Given the description of an element on the screen output the (x, y) to click on. 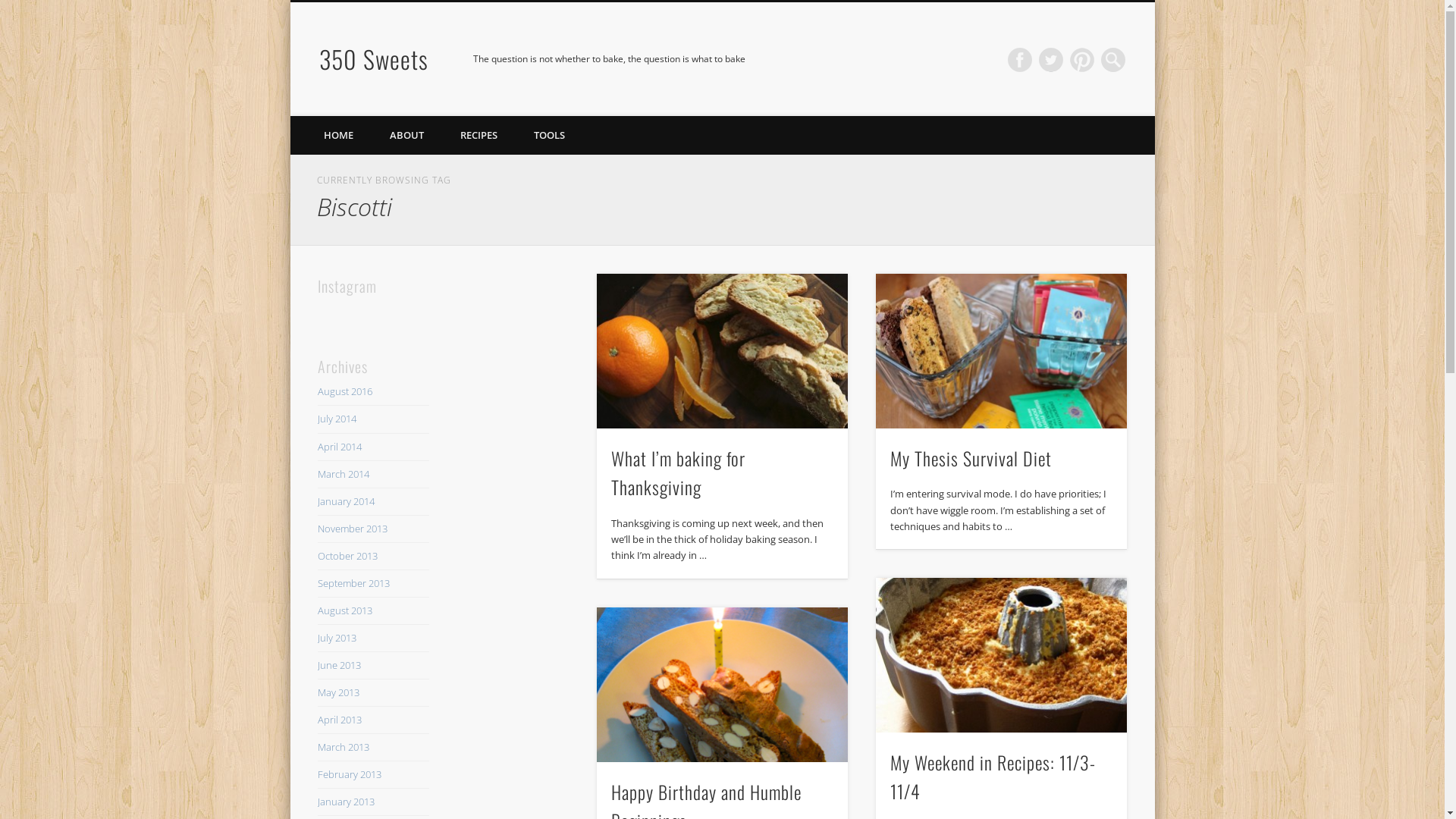
Search Element type: text (11, 9)
October 2013 Element type: text (347, 555)
April 2013 Element type: text (339, 719)
My Weekend in Recipes: 11/3-11/4 Element type: hover (1000, 655)
January 2014 Element type: text (345, 501)
Pinterest Element type: text (1082, 59)
September 2013 Element type: text (353, 582)
ABOUT Element type: text (406, 135)
My Thesis Survival Diet Element type: text (970, 457)
February 2013 Element type: text (349, 774)
April 2014 Element type: text (339, 446)
July 2013 Element type: text (336, 637)
My Thesis Survival Diet Element type: hover (1000, 351)
June 2013 Element type: text (338, 664)
March 2013 Element type: text (343, 746)
May 2013 Element type: text (338, 692)
350 Sweets Element type: text (373, 58)
August 2013 Element type: text (344, 610)
Happy Birthday and Humble Beginnings Element type: hover (721, 684)
July 2014 Element type: text (336, 418)
January 2013 Element type: text (345, 801)
August 2016 Element type: text (344, 391)
RECIPES Element type: text (477, 135)
My Weekend in Recipes: 11/3-11/4 Element type: text (992, 776)
November 2013 Element type: text (352, 528)
TOOLS Element type: text (549, 135)
Twitter Element type: text (1050, 59)
Facebook Element type: text (1019, 59)
March 2014 Element type: text (343, 473)
HOME Element type: text (337, 135)
